Given the description of an element on the screen output the (x, y) to click on. 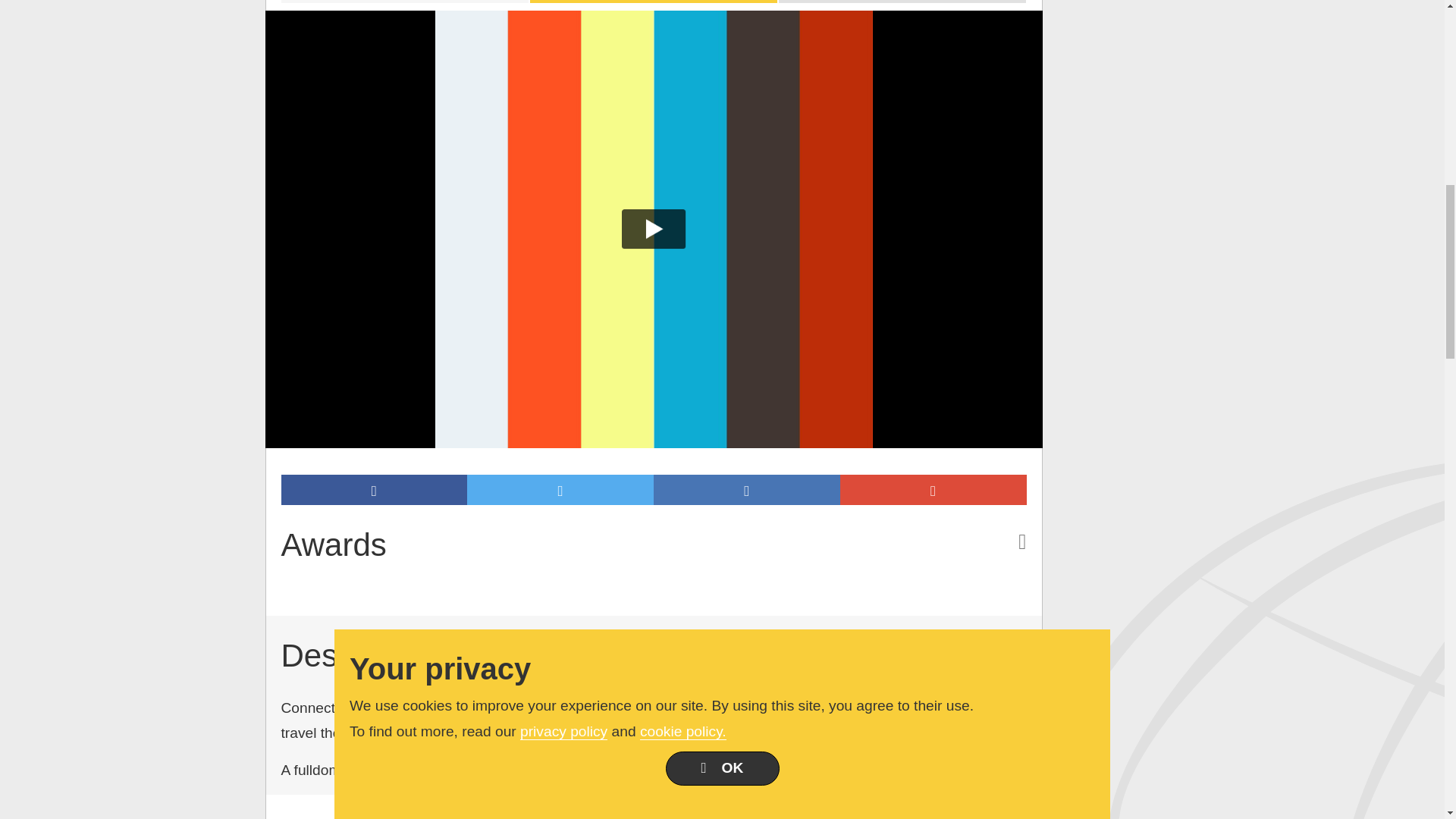
Fisheye trailer (653, 1)
The video is missing (404, 1)
Full preview (902, 1)
